Given the description of an element on the screen output the (x, y) to click on. 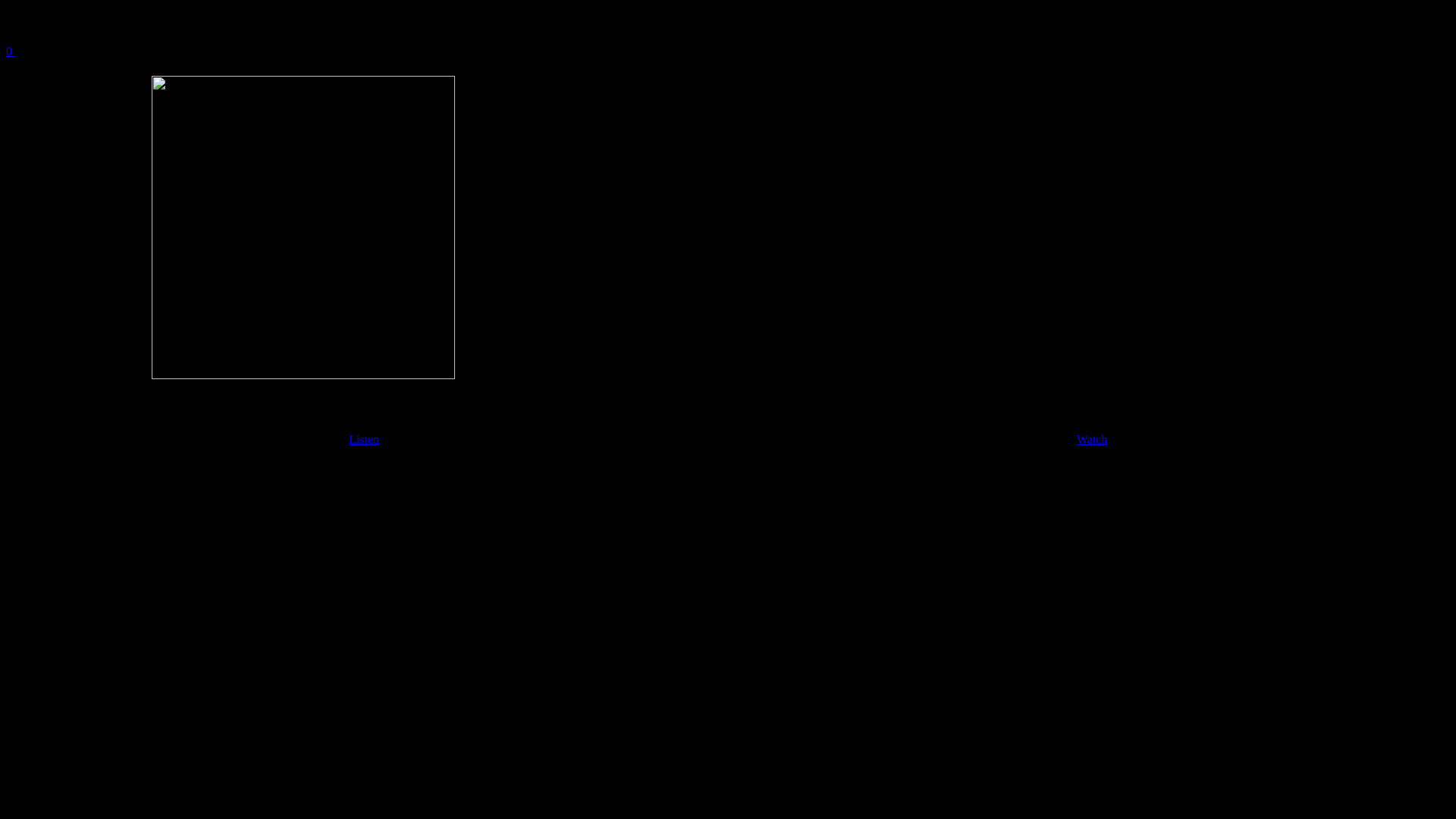
Listen Element type: text (363, 439)
0 Element type: text (727, 44)
Watch Element type: text (1091, 439)
